Given the description of an element on the screen output the (x, y) to click on. 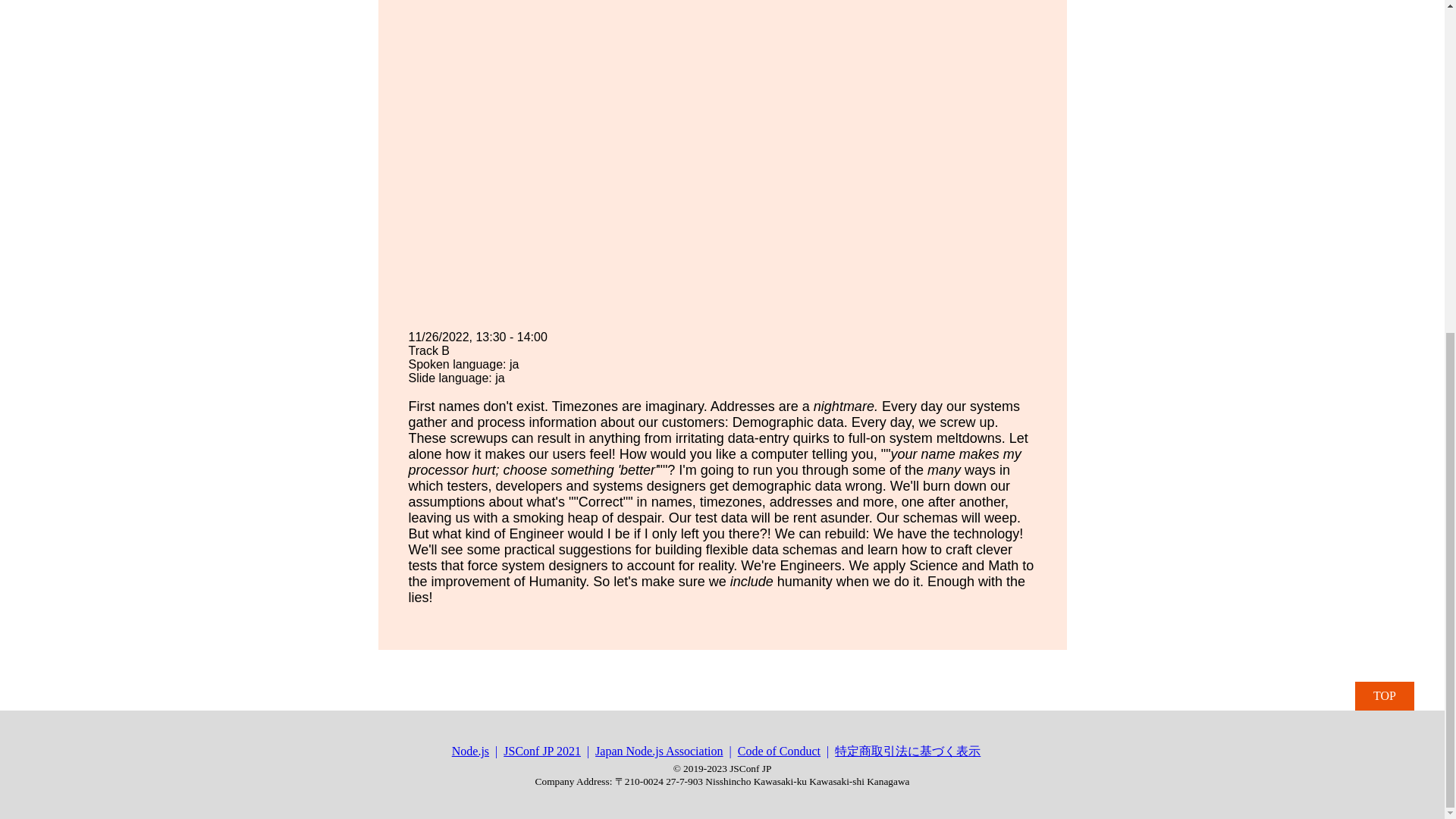
Japan Node.js Association (666, 751)
Node.js (477, 751)
JSConf JP 2021 (549, 751)
Code of Conduct (786, 751)
TOP (1384, 695)
